Given the description of an element on the screen output the (x, y) to click on. 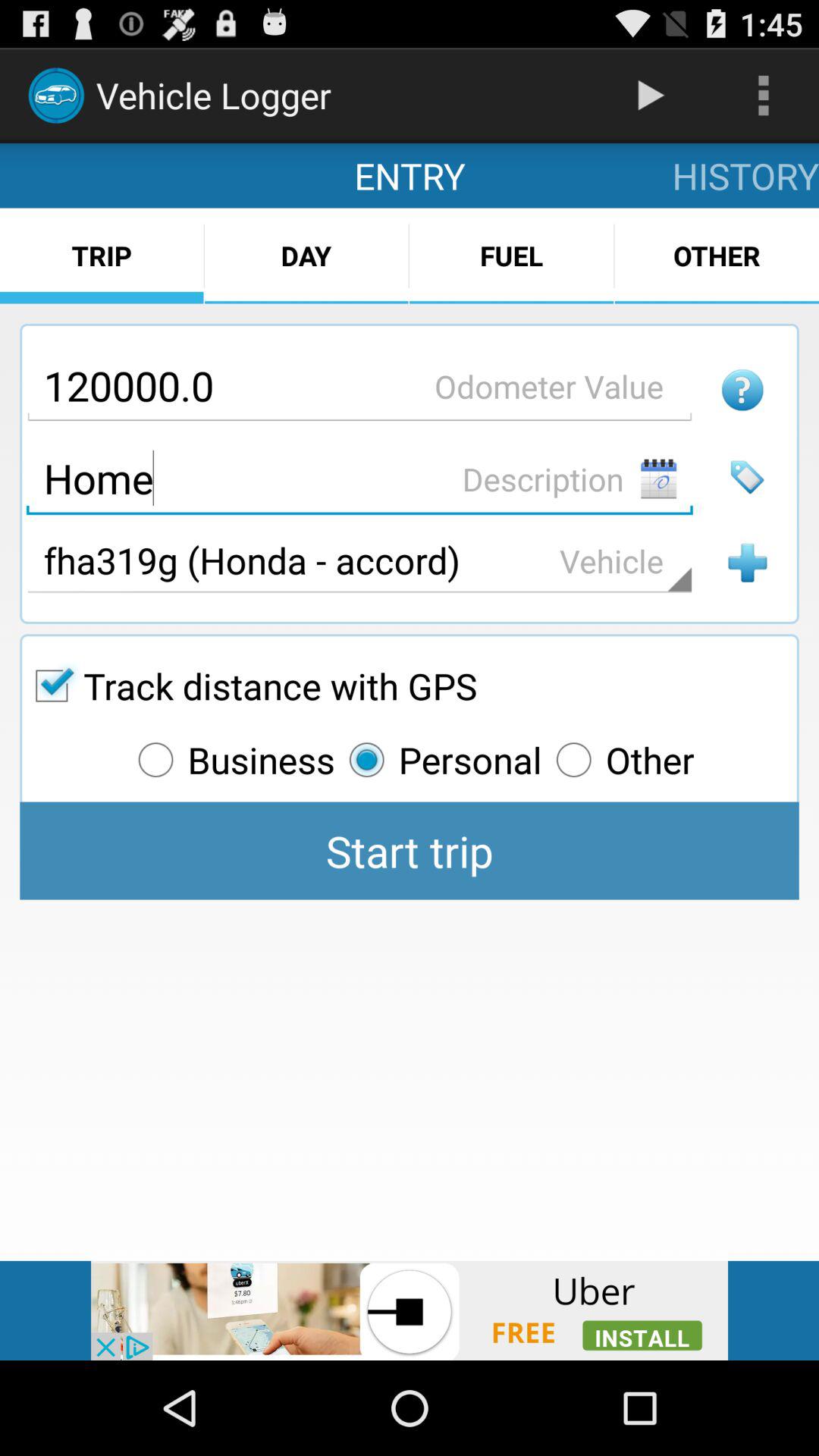
install option (409, 1310)
